Given the description of an element on the screen output the (x, y) to click on. 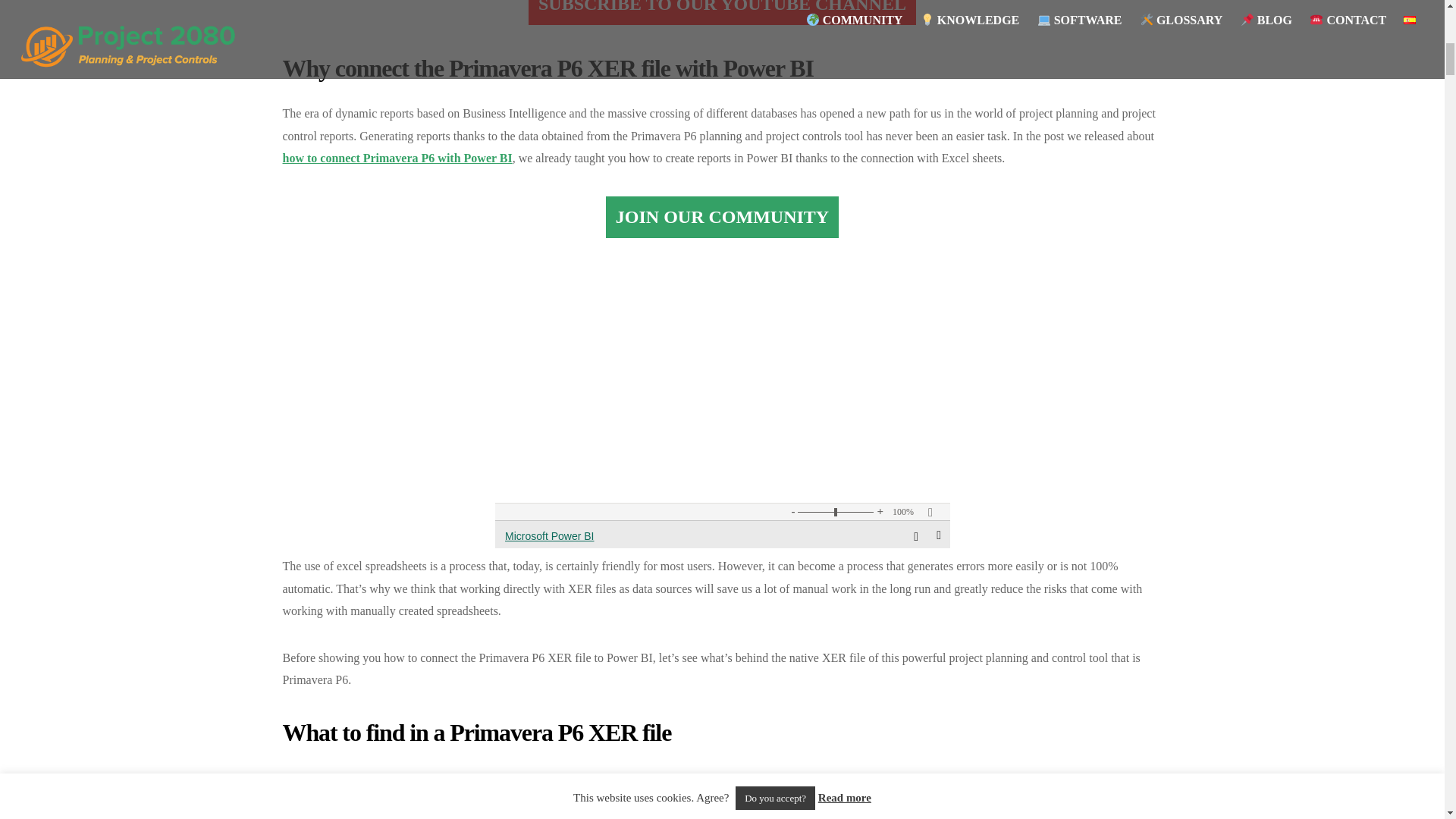
JOIN OUR COMMUNITY (721, 217)
SUBSCRIBE TO OUR YOUTUBE CHANNEL (721, 12)
Subs Mailchimp (722, 405)
how to connect Primavera P6 with Power BI (397, 157)
